Given the description of an element on the screen output the (x, y) to click on. 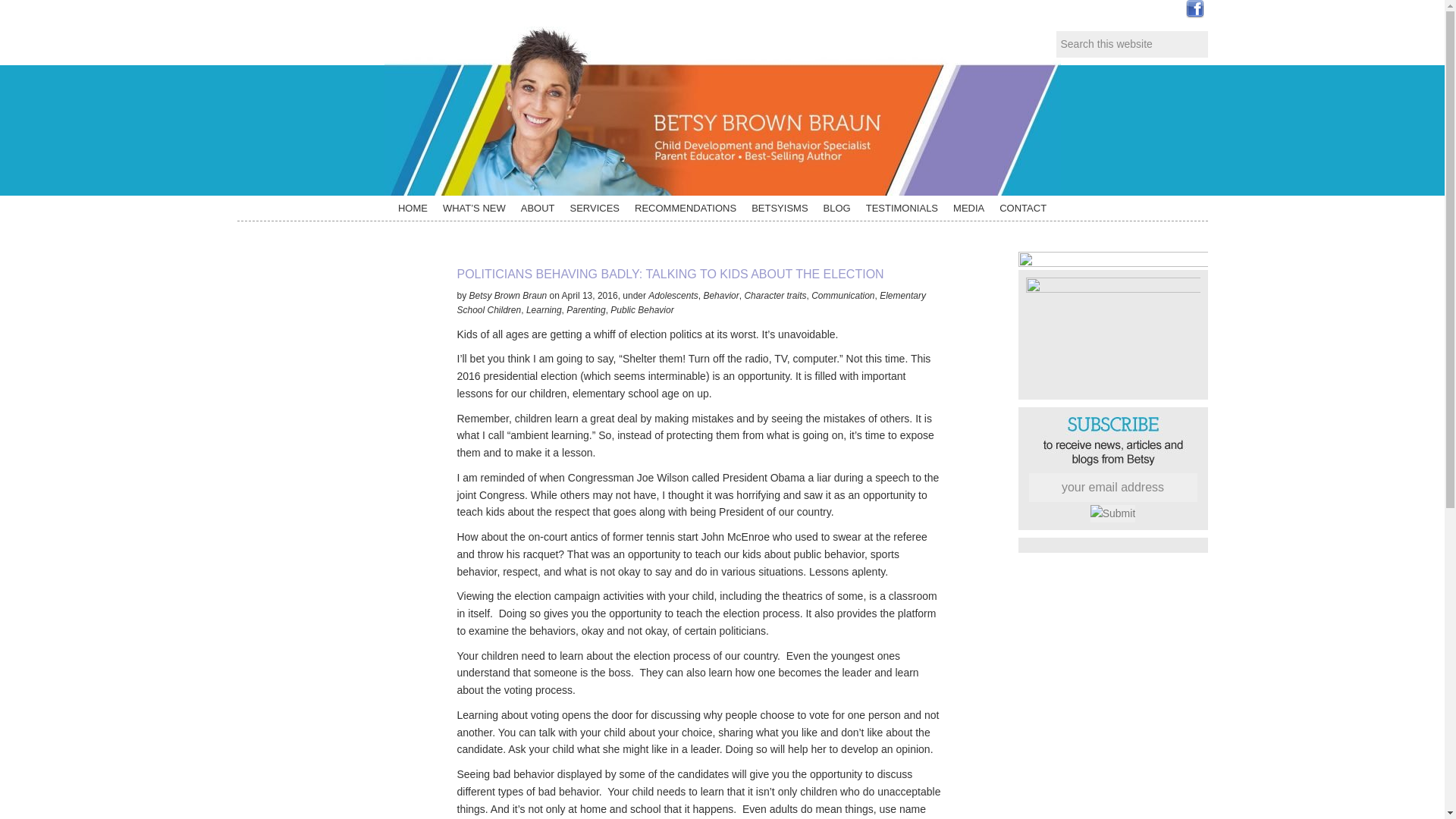
RECOMMENDATIONS (685, 207)
HOME (412, 207)
BETSYISMS (779, 207)
TESTIMONIALS (901, 207)
SERVICES (594, 207)
ABOUT (537, 207)
BLOG (837, 207)
